Given the description of an element on the screen output the (x, y) to click on. 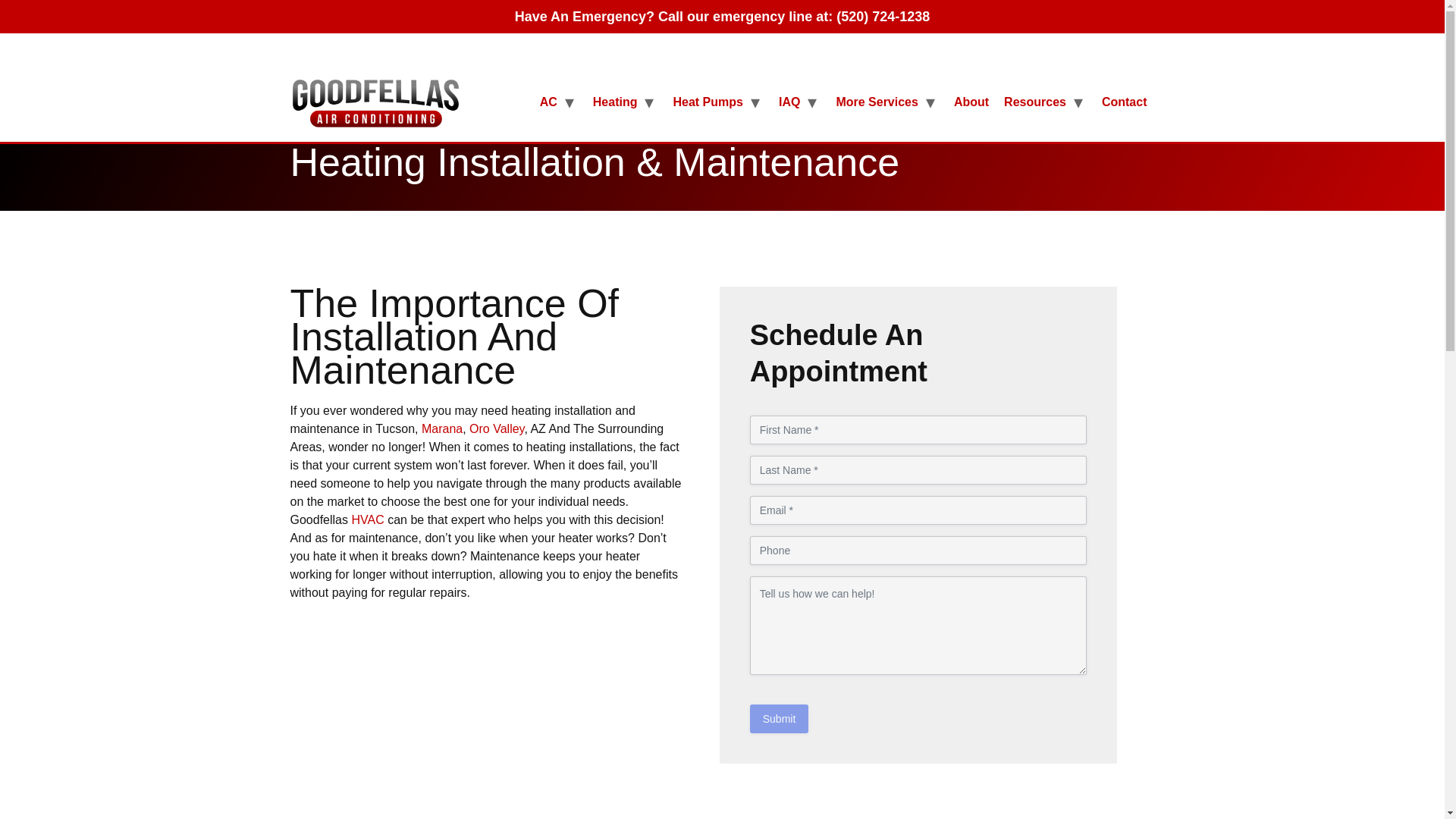
About (970, 101)
More Services (877, 101)
Submit (779, 718)
Heating (615, 101)
Resources (1034, 101)
IAQ (789, 101)
AC (548, 101)
Heat Pumps (707, 101)
